Given the description of an element on the screen output the (x, y) to click on. 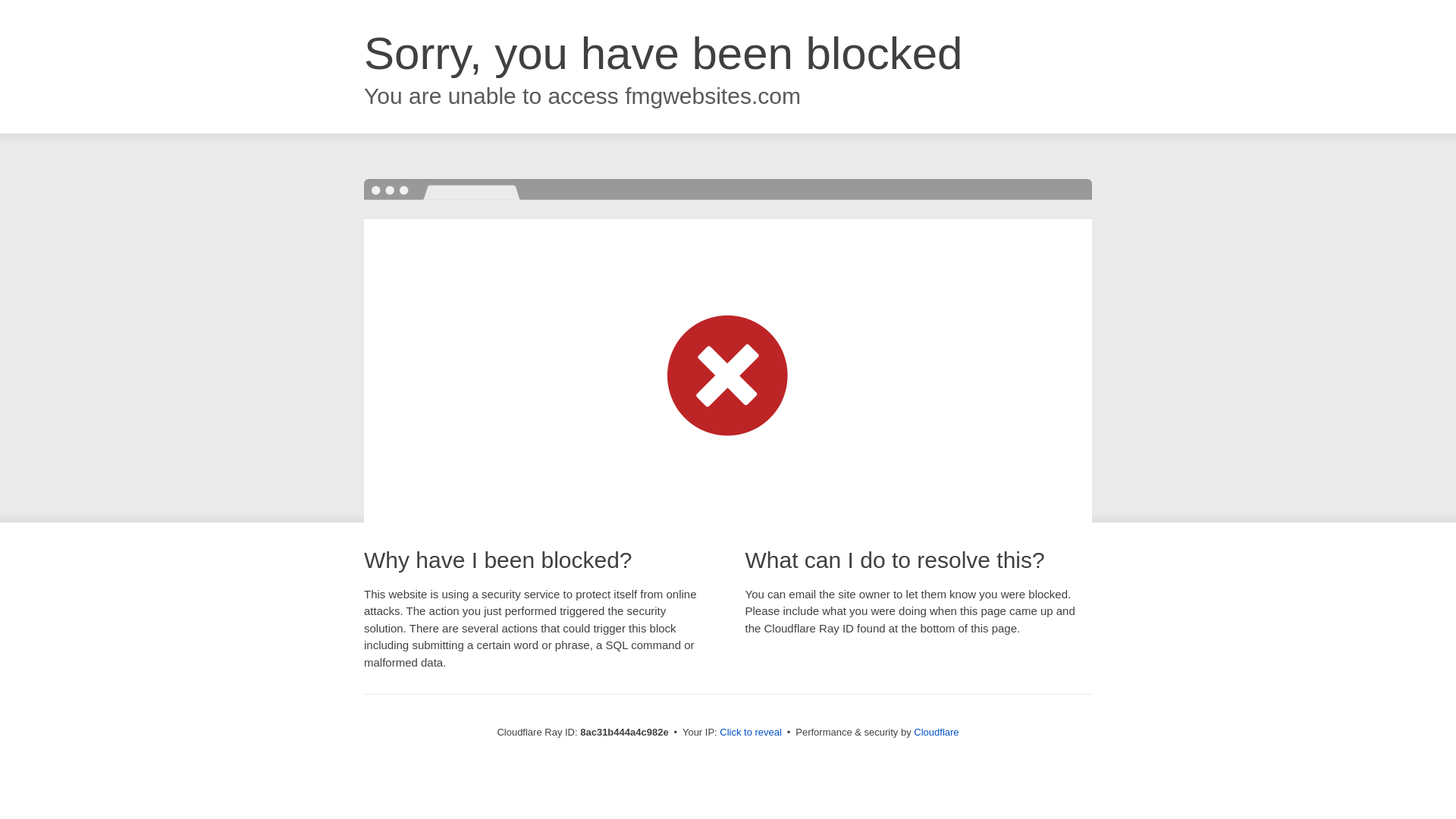
Cloudflare (936, 731)
Click to reveal (750, 732)
